Given the description of an element on the screen output the (x, y) to click on. 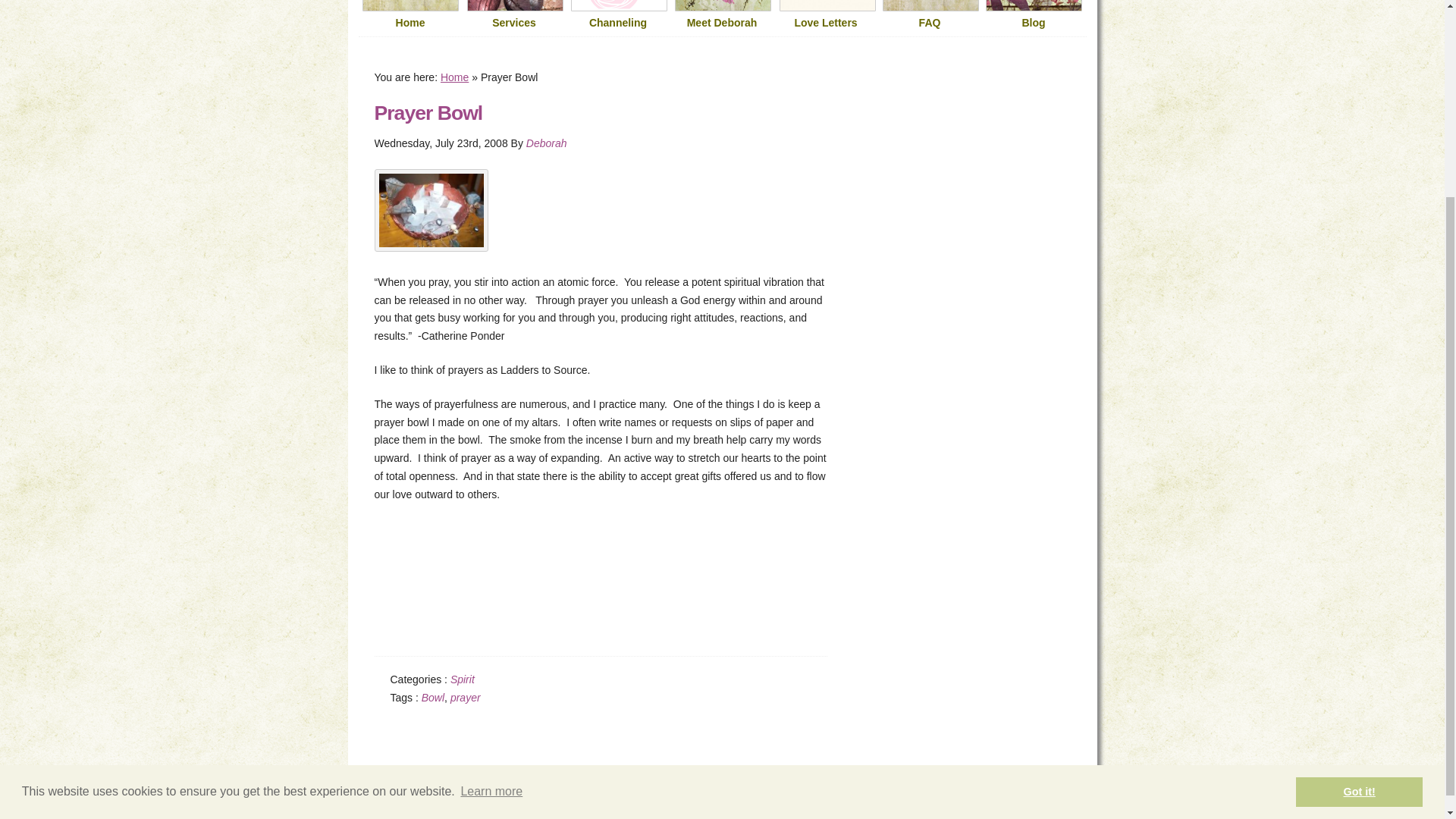
Home (409, 22)
FAQ (929, 22)
prayer (464, 697)
Home (454, 77)
Love Letters (825, 22)
Bowl (433, 697)
WebsitesInWP.com (911, 782)
Services (514, 22)
Spirit (461, 679)
Privacy Policy (687, 796)
Deborah (546, 143)
Meet Deborah (721, 22)
Blog (1032, 22)
Learn more (491, 535)
bowl (430, 210)
